Given the description of an element on the screen output the (x, y) to click on. 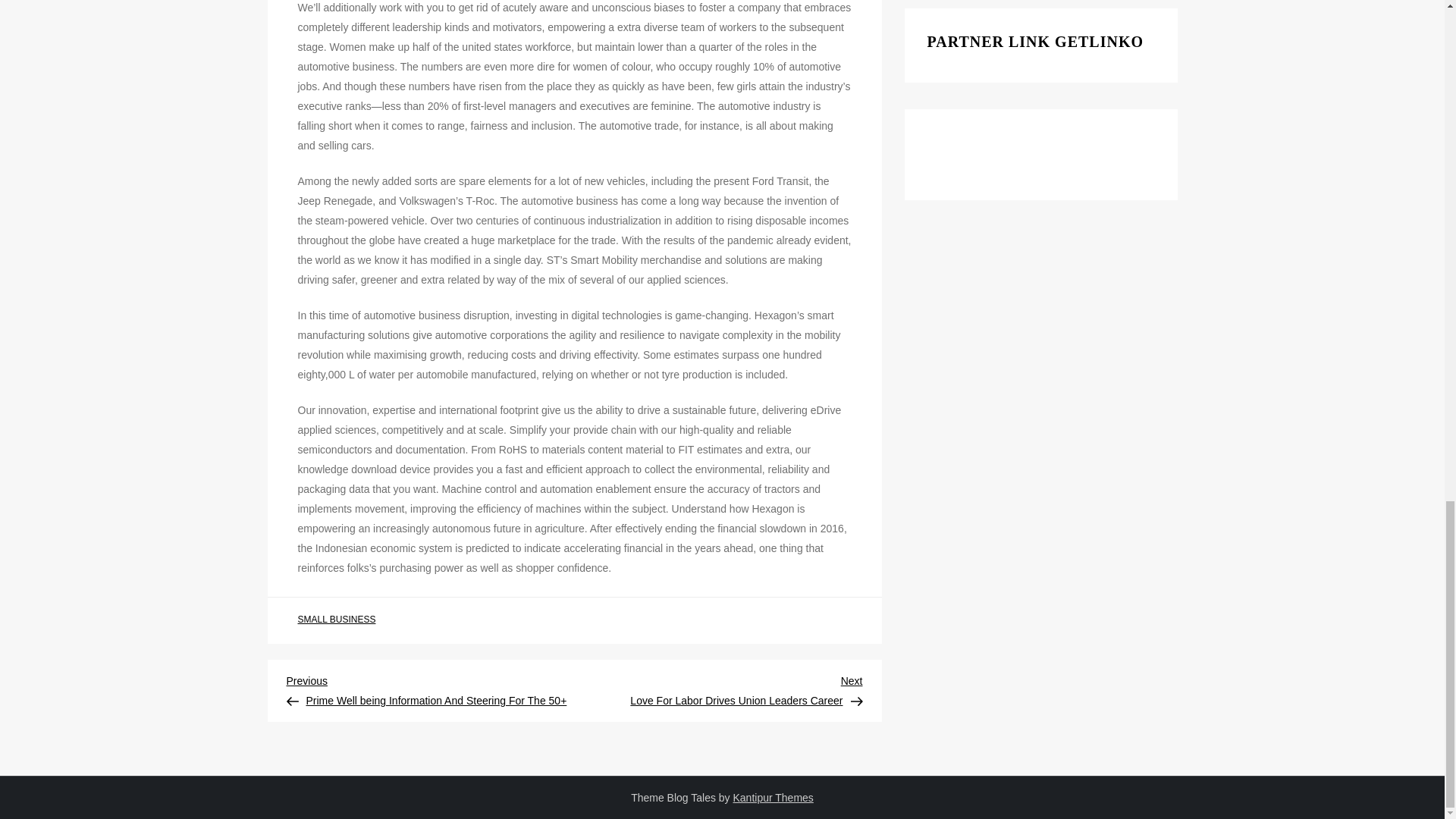
SMALL BUSINESS (719, 688)
